Given the description of an element on the screen output the (x, y) to click on. 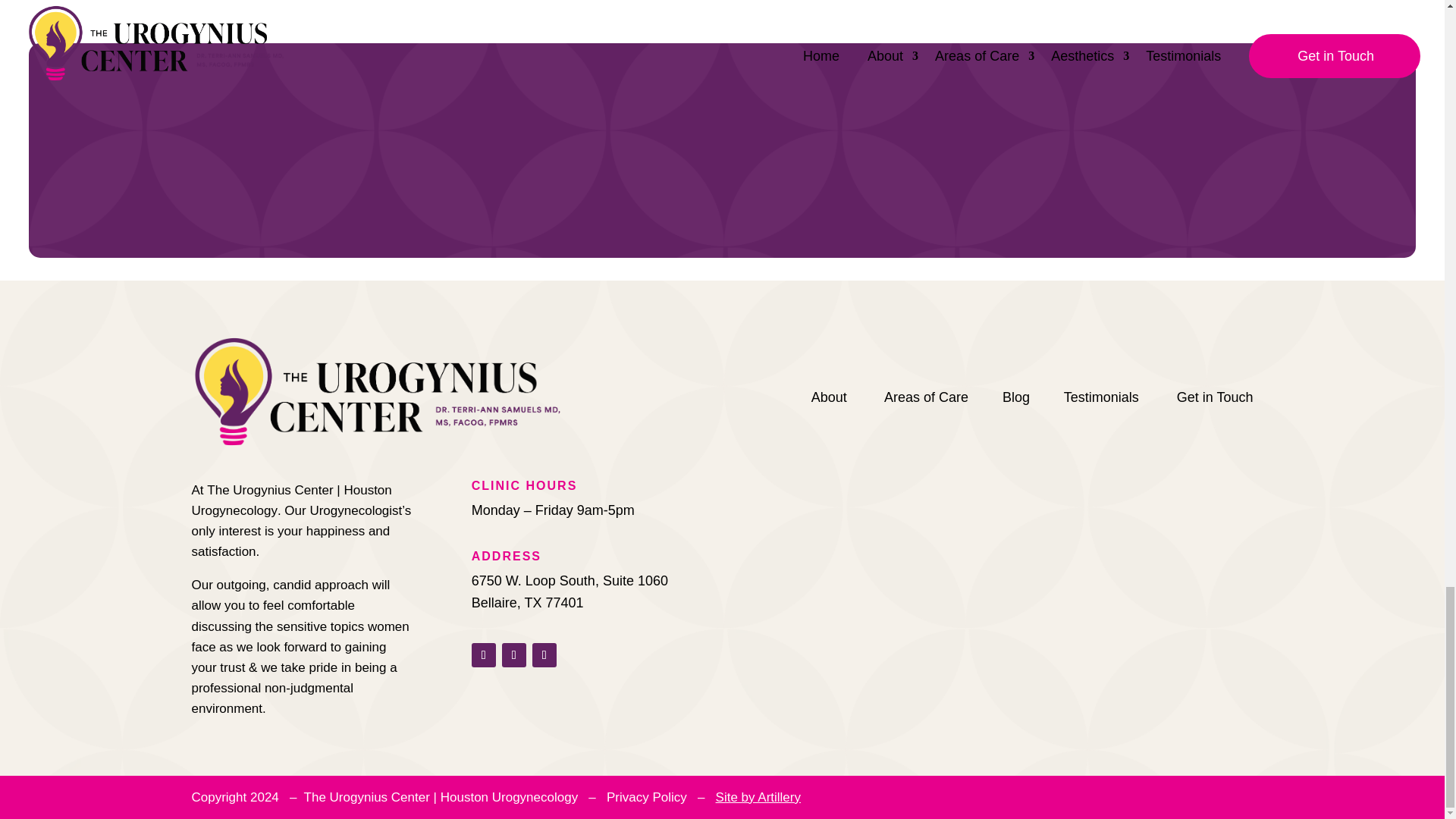
Primary - for Light Background (376, 390)
Follow on X (513, 654)
Follow on Facebook (483, 654)
Follow on Instagram (544, 654)
